Given the description of an element on the screen output the (x, y) to click on. 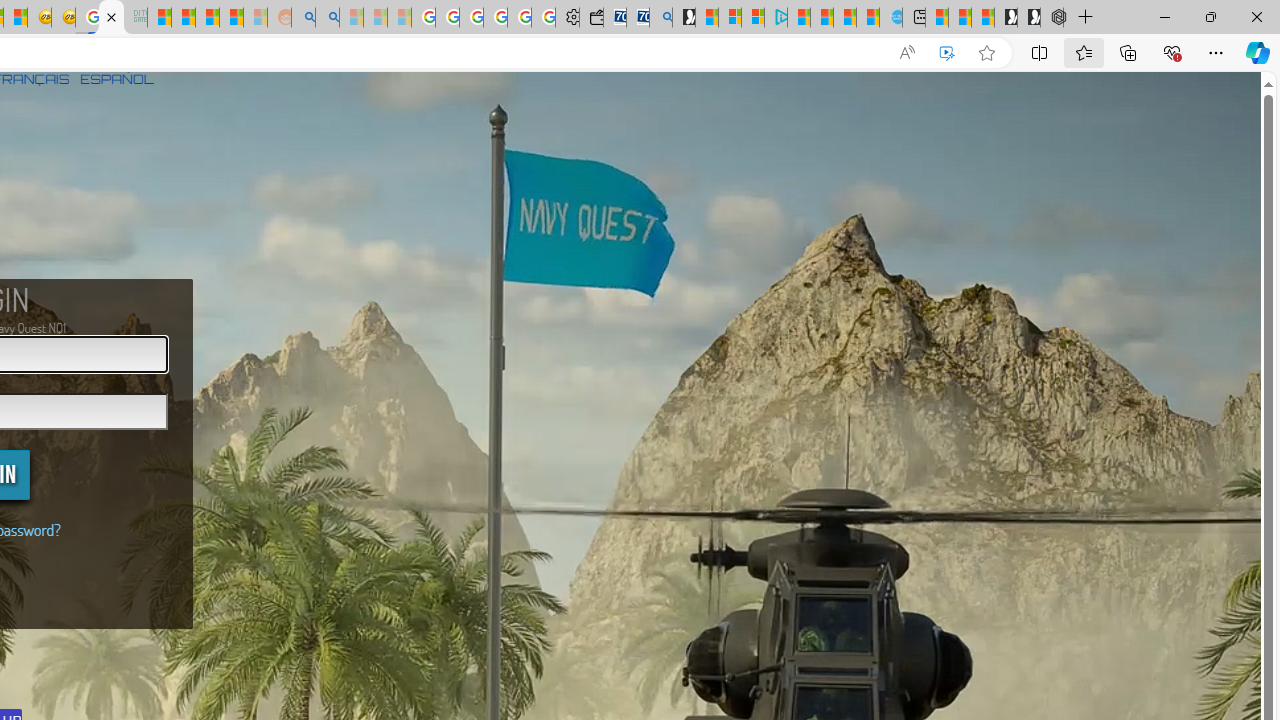
DITOGAMES AG Imprint - Sleeping (135, 17)
Student Loan Update: Forgiveness Program Ends This Month (231, 17)
Cheap Car Rentals - Save70.com (637, 17)
Home | Sky Blue Bikes - Sky Blue Bikes (890, 17)
